Given the description of an element on the screen output the (x, y) to click on. 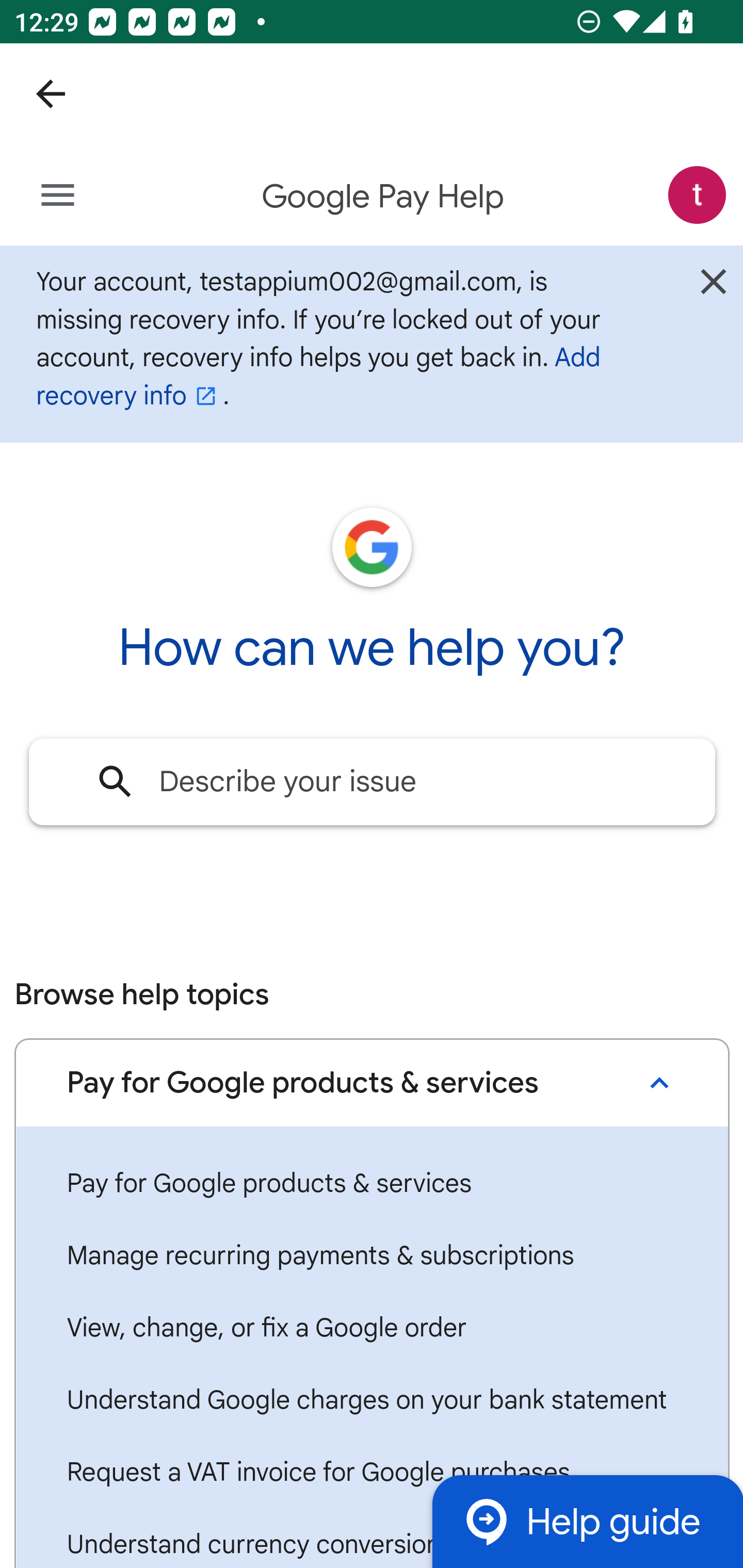
Navigate up (50, 93)
Main menu (58, 195)
Google Pay Help (383, 197)
Close (713, 286)
Add recovery info (318, 376)
Search (116, 781)
Pay for Google products & services (371, 1183)
Manage recurring payments & subscriptions (371, 1255)
View, change, or fix a Google order (371, 1328)
Understand Google charges on your bank statement (371, 1400)
Request a VAT invoice for Google purchases (371, 1472)
Help guide (587, 1520)
Understand currency conversions (371, 1538)
